Given the description of an element on the screen output the (x, y) to click on. 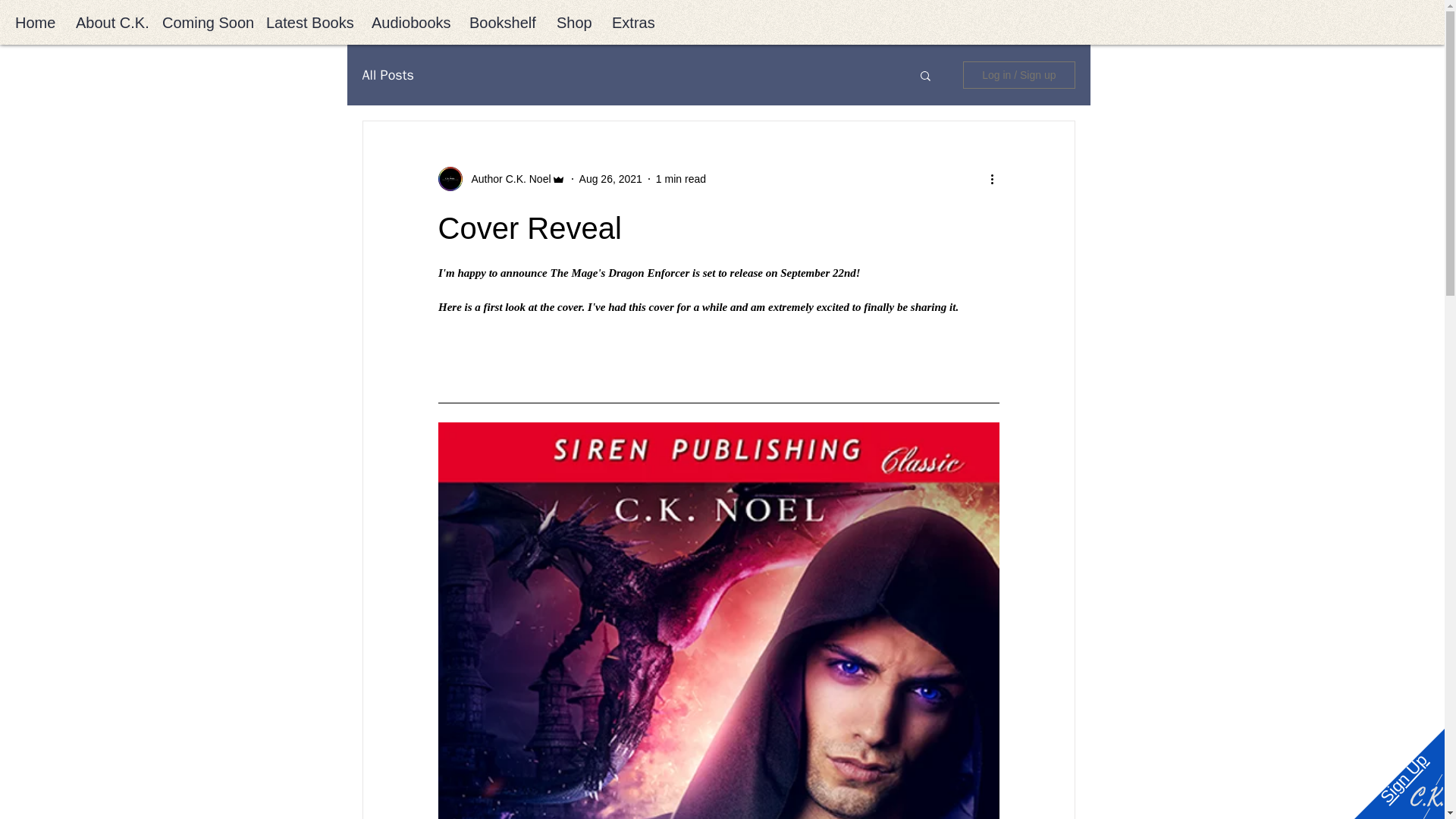
All Posts (387, 75)
Coming Soon (202, 22)
About C.K. (107, 22)
1 min read (681, 178)
Audiobooks (408, 22)
Shop (571, 22)
Latest Books (306, 22)
Author C.K. Noel (502, 178)
Aug 26, 2021 (610, 178)
Home (34, 22)
